Given the description of an element on the screen output the (x, y) to click on. 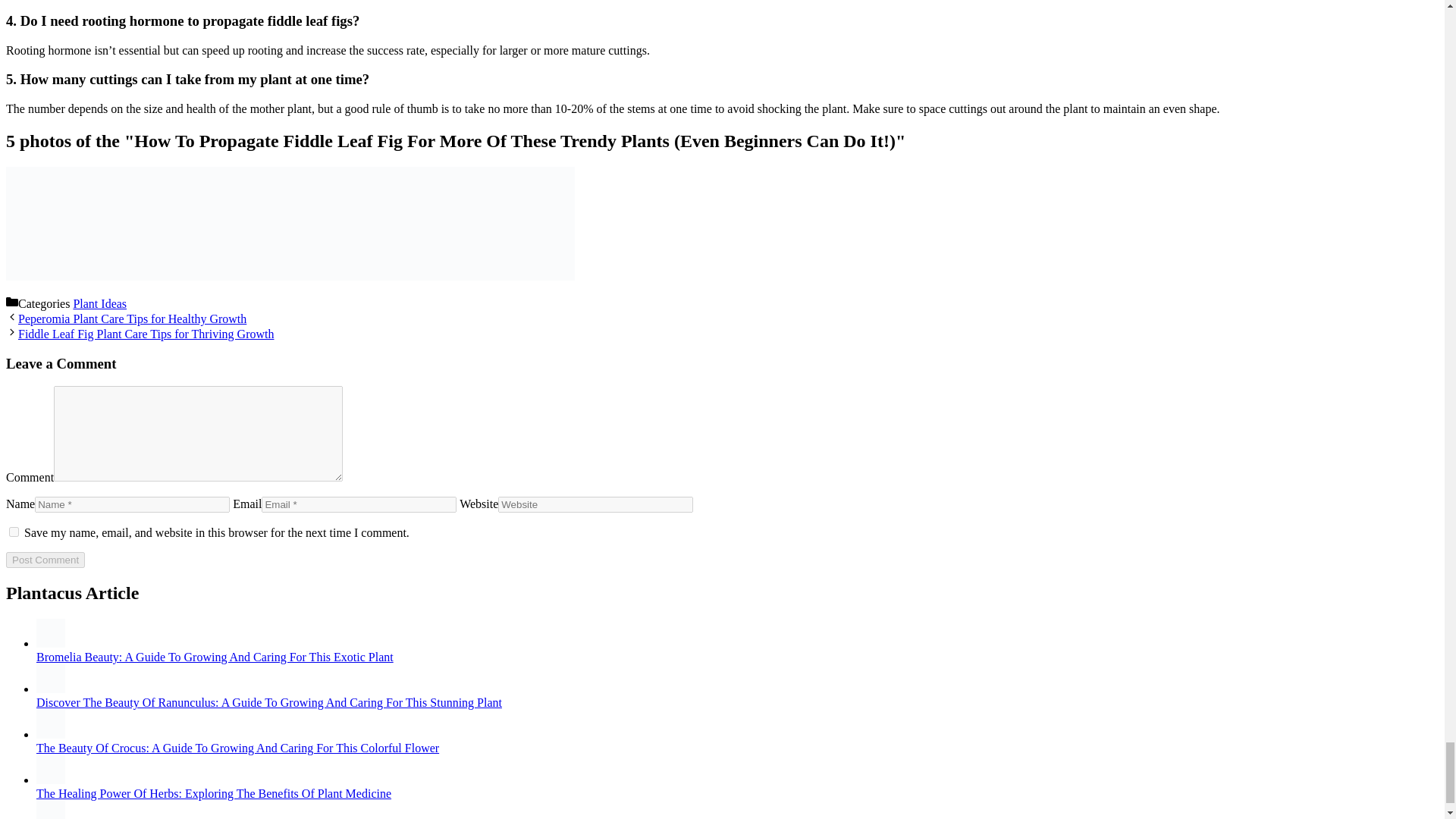
Peperomia Plant Care Tips for Healthy Growth (131, 318)
Post Comment (44, 560)
How To Propagate Fiddle Leaf Fig (404, 276)
Fiddle Leaf Fig Plant Care Tips for Thriving Growth (145, 333)
Infografic How To Propagate Fiddle Leaf Fig (62, 276)
How To Propagate Fiddle Leaf Fig (175, 276)
Post Comment (44, 560)
How To Propagate Fiddle Leaf Fig (518, 276)
yes (13, 532)
How To Propagate Fiddle Leaf Fig (289, 276)
Plant Ideas (99, 303)
